Given the description of an element on the screen output the (x, y) to click on. 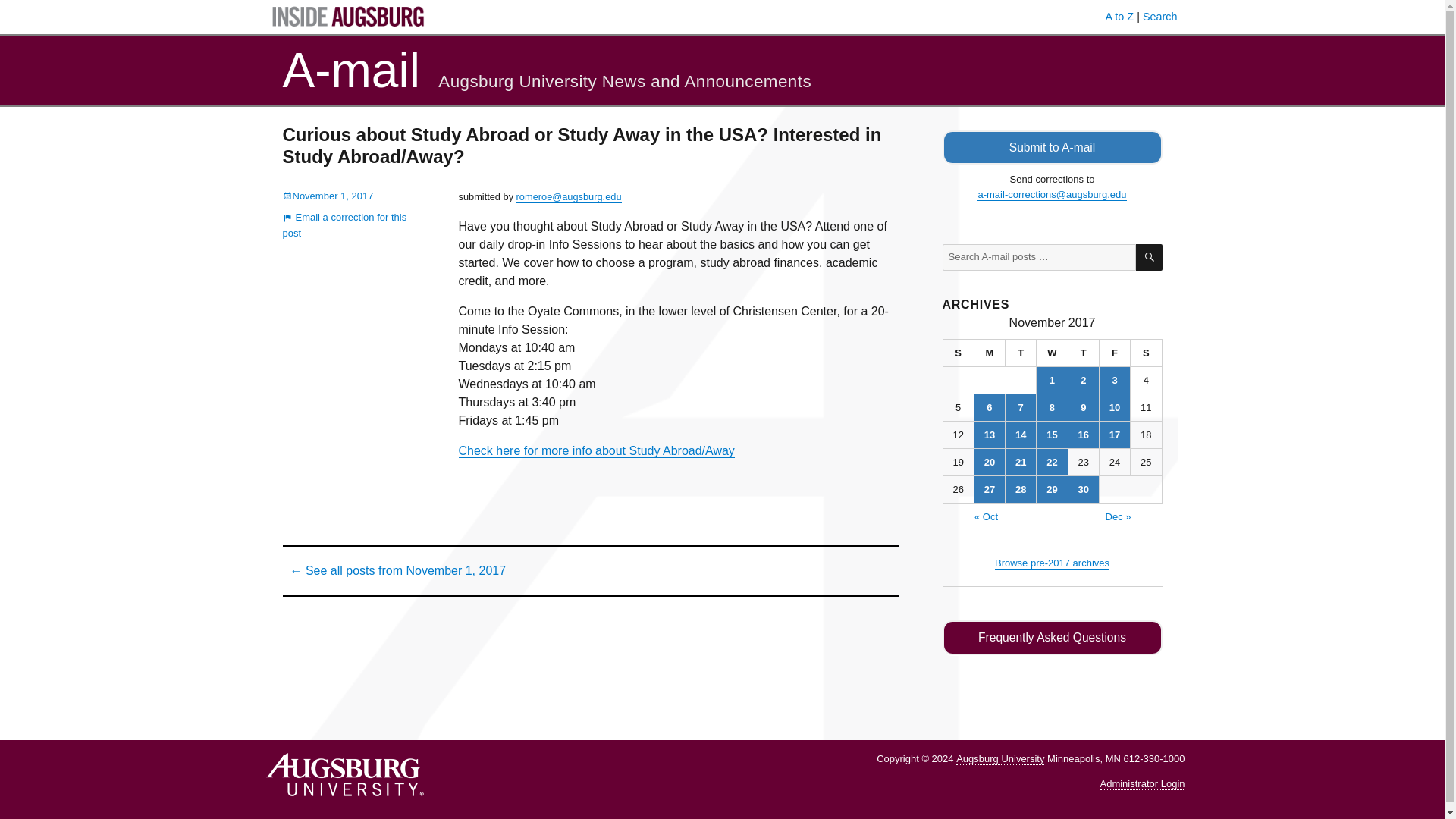
2 (1083, 379)
Augsburg University (999, 758)
21 (1020, 461)
20 (989, 461)
29 (1051, 488)
28 (1020, 488)
3 (1114, 379)
Friday (1115, 352)
Tuesday (1021, 352)
November 1, 2017 (327, 195)
Thursday (1083, 352)
30 (1083, 488)
14 (1020, 434)
1 (1051, 379)
9 (1083, 406)
